Given the description of an element on the screen output the (x, y) to click on. 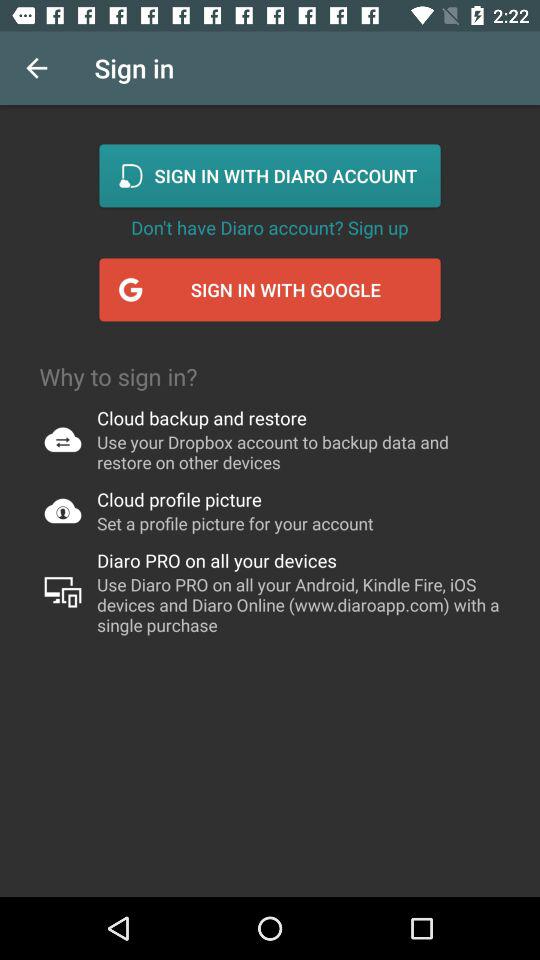
turn on item above the why to sign icon (36, 68)
